Given the description of an element on the screen output the (x, y) to click on. 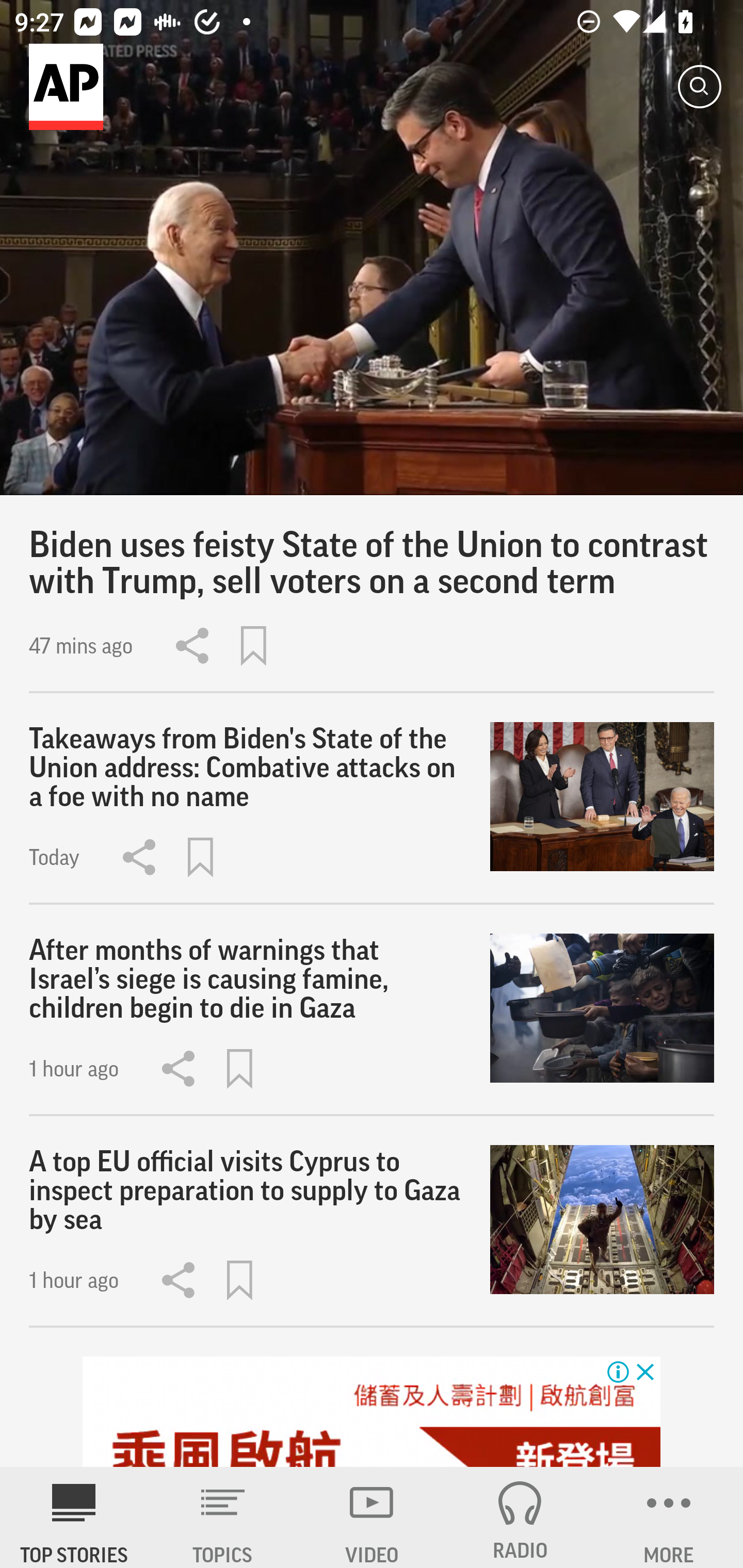
AP News TOP STORIES (74, 1517)
TOPICS (222, 1517)
VIDEO (371, 1517)
RADIO (519, 1517)
MORE (668, 1517)
